Given the description of an element on the screen output the (x, y) to click on. 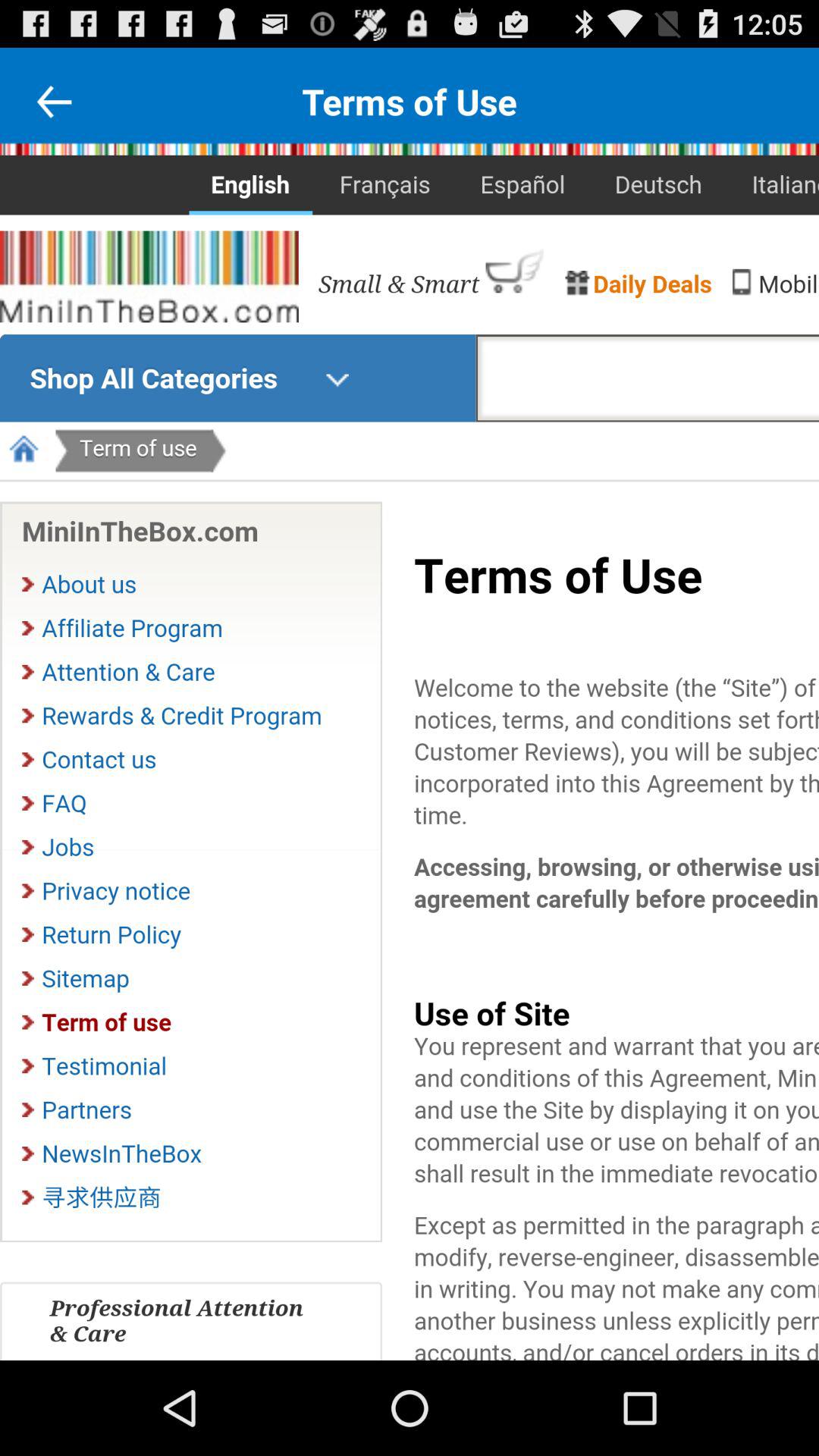
go back (53, 101)
